Given the description of an element on the screen output the (x, y) to click on. 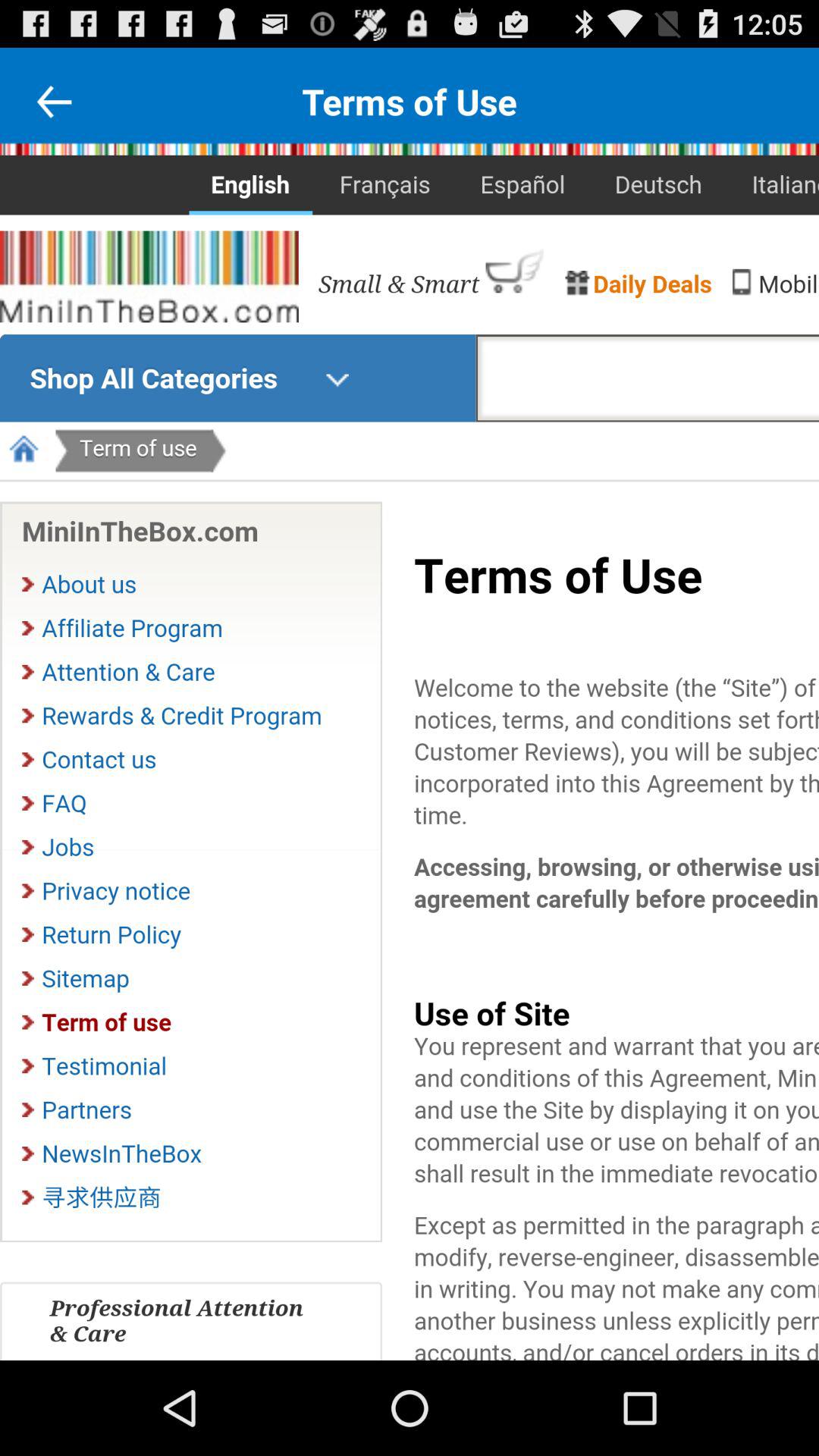
go back (53, 101)
